Given the description of an element on the screen output the (x, y) to click on. 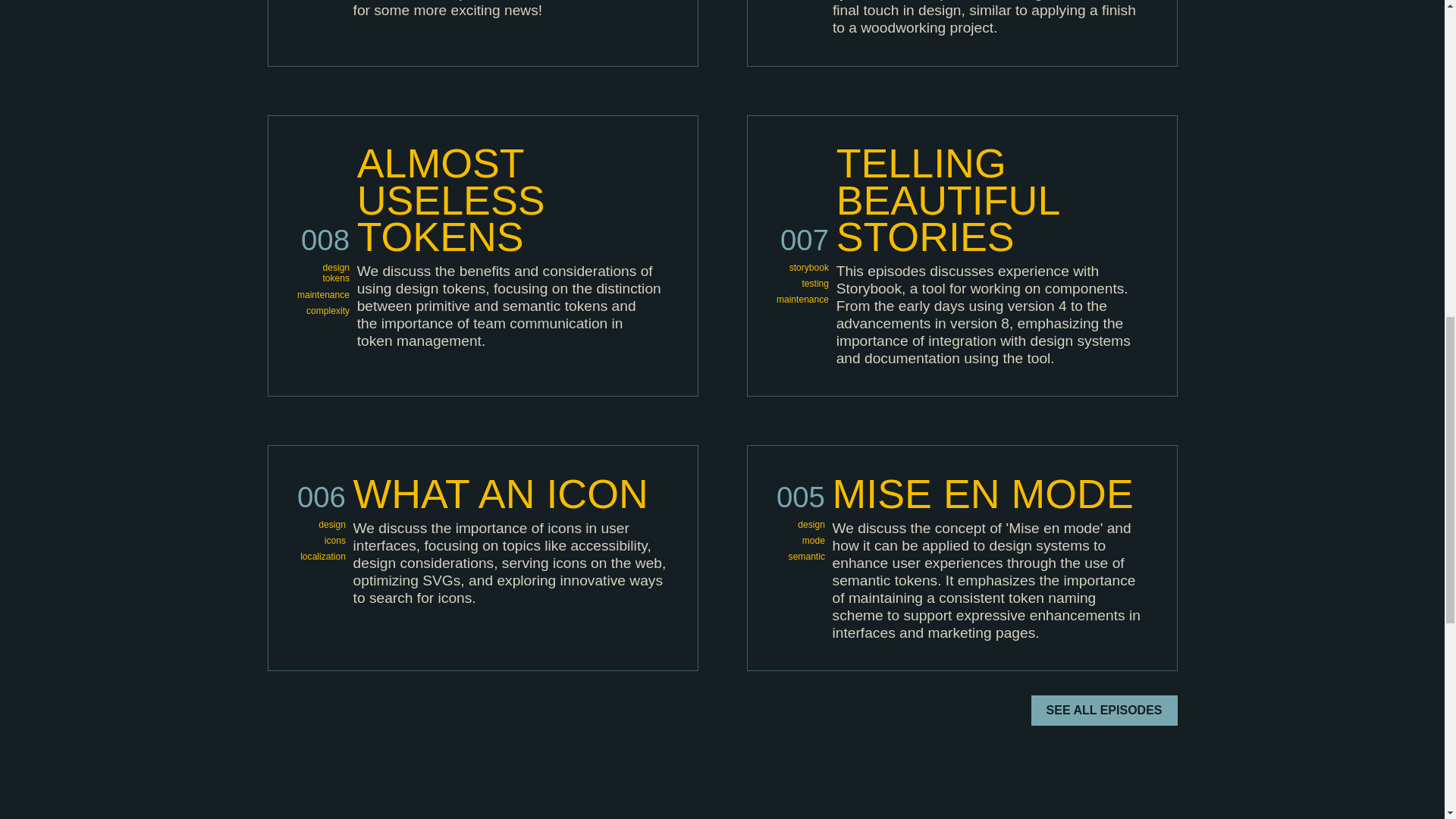
SEE ALL EPISODES (1103, 710)
